Given the description of an element on the screen output the (x, y) to click on. 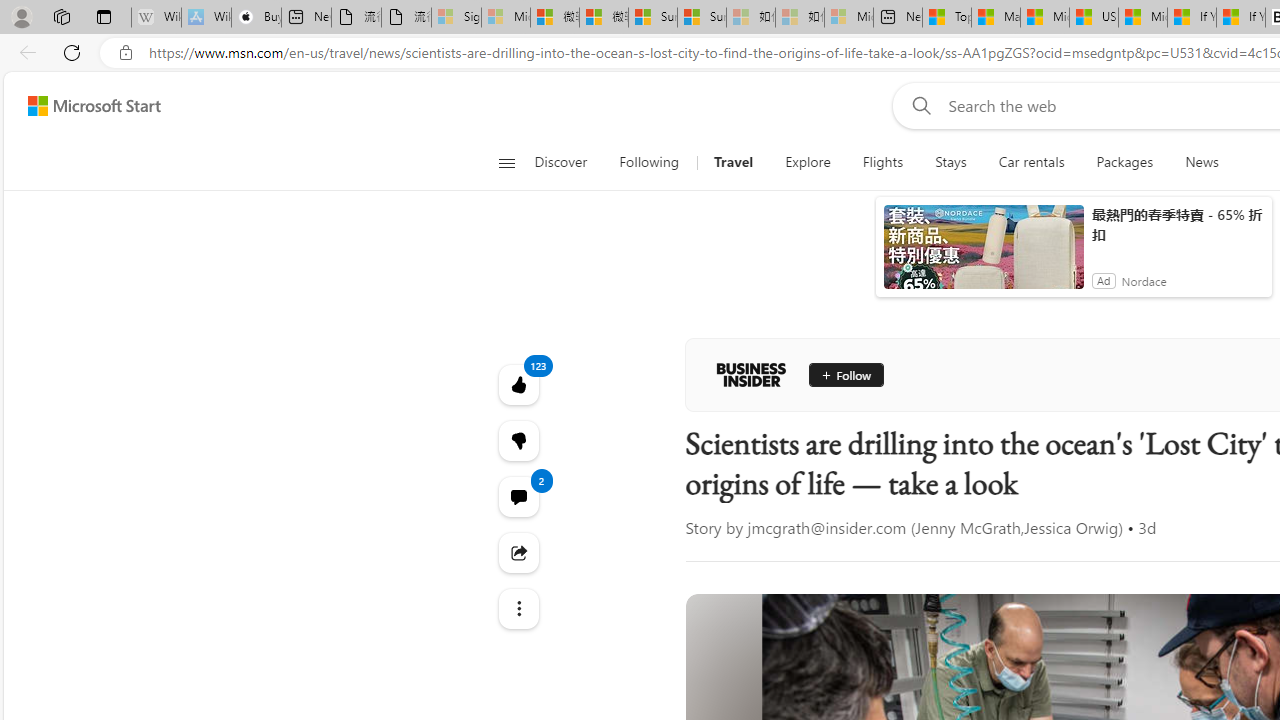
Class: at-item (517, 609)
Explore (807, 162)
Business Insider (751, 374)
123 Like (517, 384)
Microsoft Services Agreement - Sleeping (505, 17)
Car rentals (1031, 162)
